Given the description of an element on the screen output the (x, y) to click on. 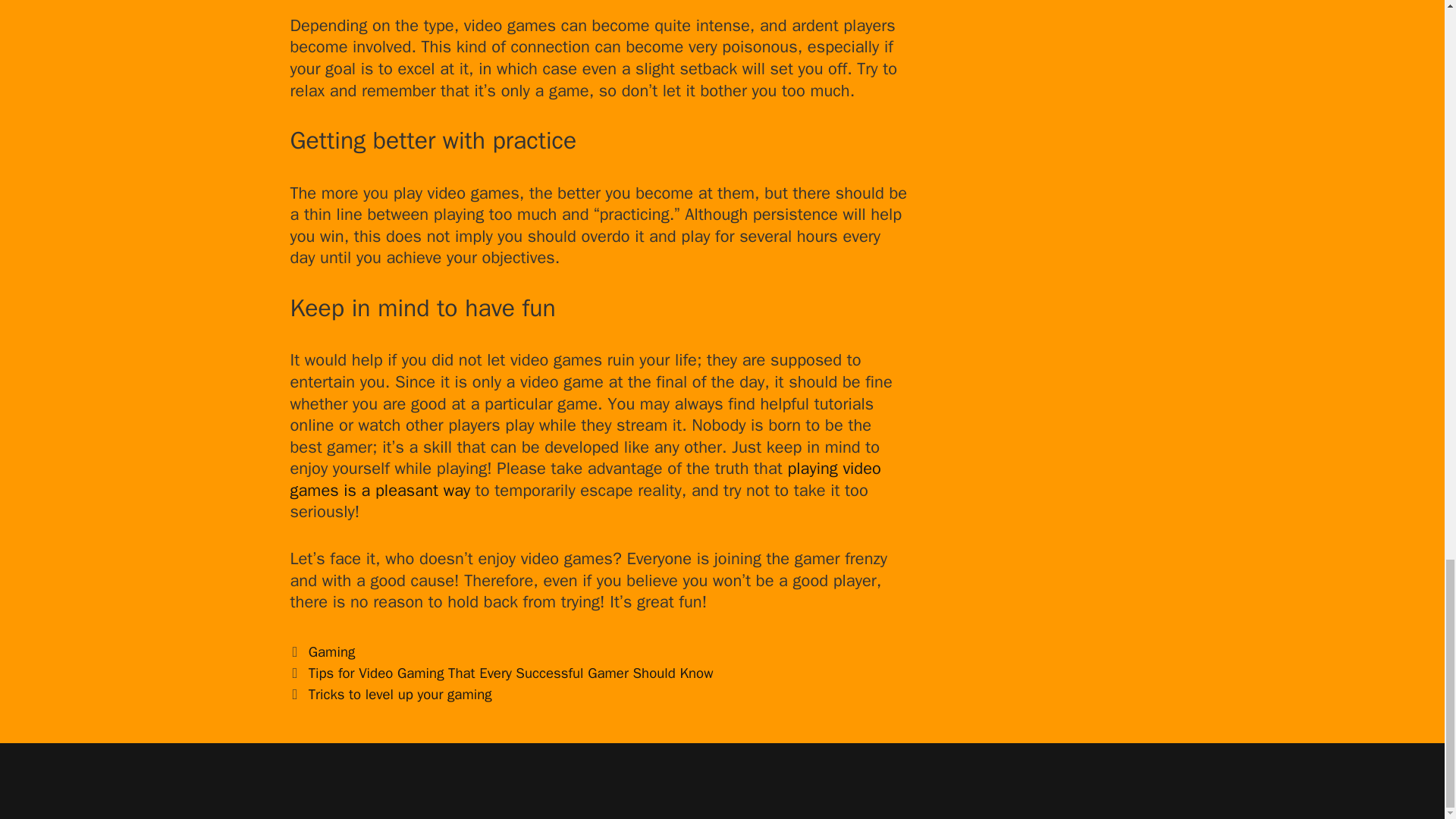
Next (390, 694)
playing video games is a pleasant way (584, 479)
Gaming (331, 651)
Tricks to level up your gaming (400, 694)
Previous (501, 673)
